Given the description of an element on the screen output the (x, y) to click on. 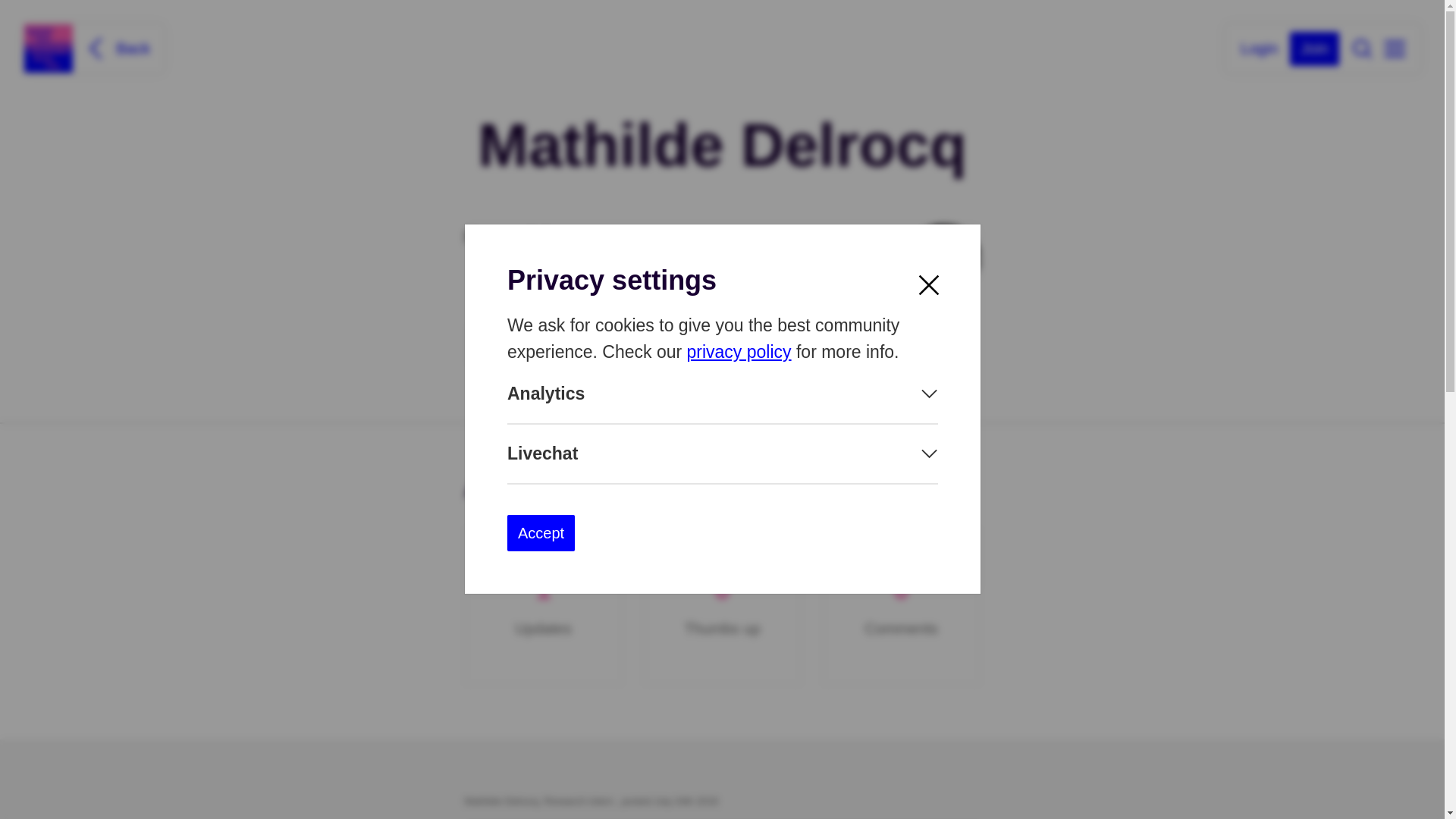
Mathilde Delrocq (943, 260)
Login (1259, 47)
Accept (539, 533)
Register (1314, 48)
Back (115, 48)
Connect via Linkedin (561, 344)
Follow on Twitter (743, 344)
Login (1259, 47)
privacy policy (737, 351)
Search (1362, 47)
